Given the description of an element on the screen output the (x, y) to click on. 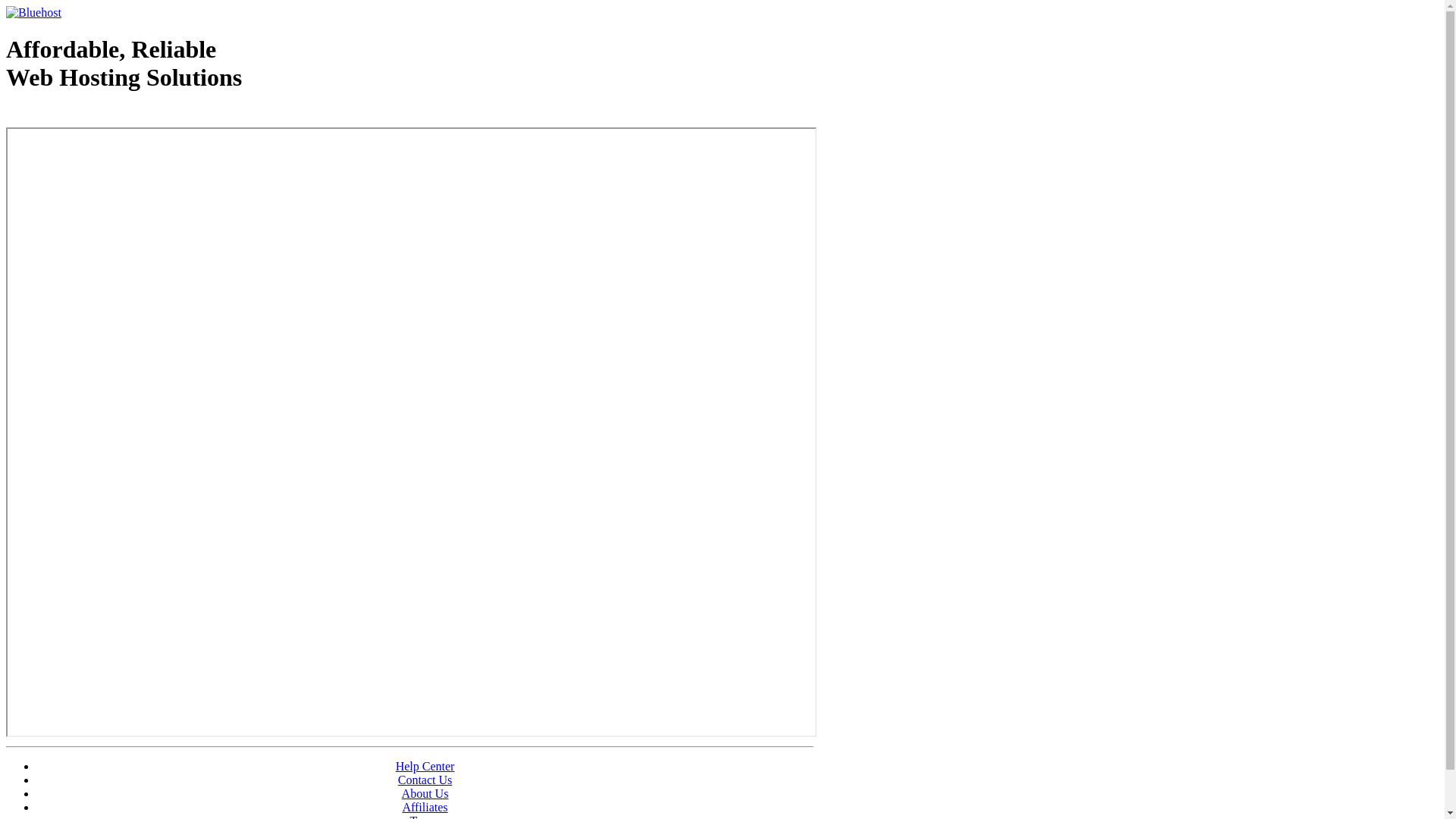
Contact Us Element type: text (425, 779)
Web Hosting - courtesy of www.bluehost.com Element type: text (94, 115)
Affiliates Element type: text (424, 806)
About Us Element type: text (424, 793)
Help Center Element type: text (425, 765)
